Given the description of an element on the screen output the (x, y) to click on. 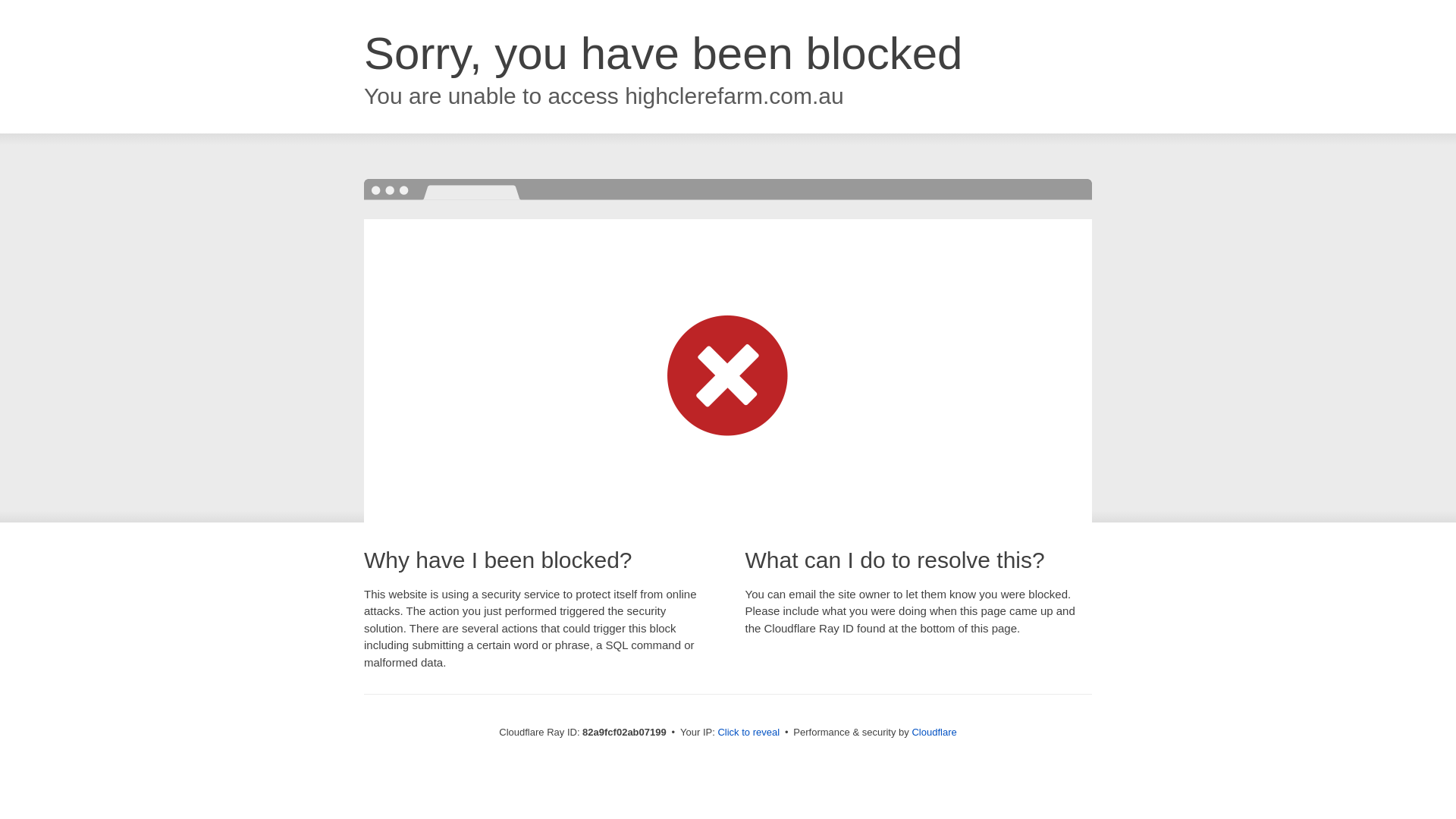
Click to reveal Element type: text (748, 732)
Cloudflare Element type: text (933, 731)
